Given the description of an element on the screen output the (x, y) to click on. 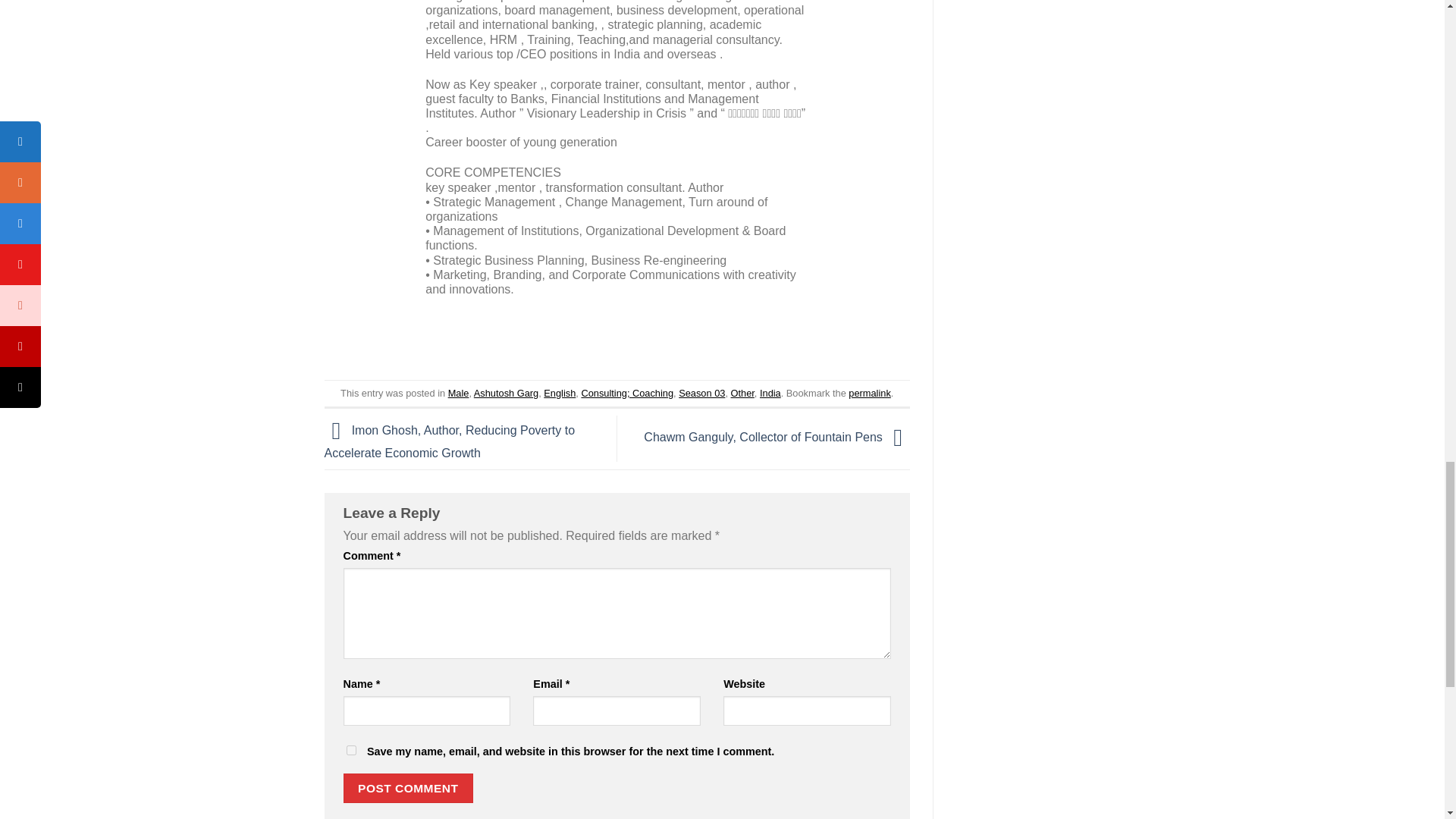
Post Comment (407, 788)
Permalink to Prof SP Garg, Personal Branding Expert (868, 392)
yes (350, 750)
